Given the description of an element on the screen output the (x, y) to click on. 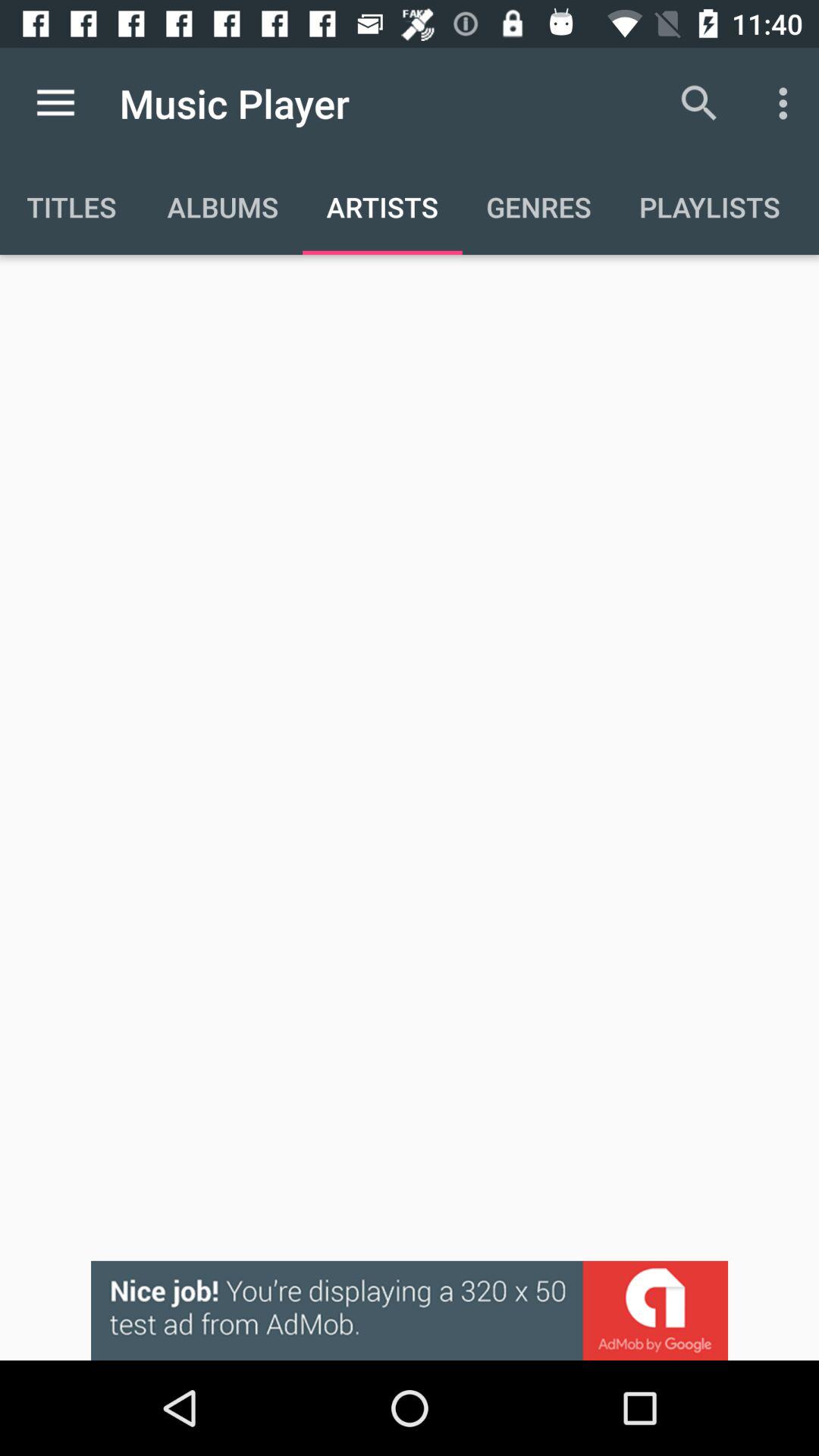
advertisement (409, 1310)
